Given the description of an element on the screen output the (x, y) to click on. 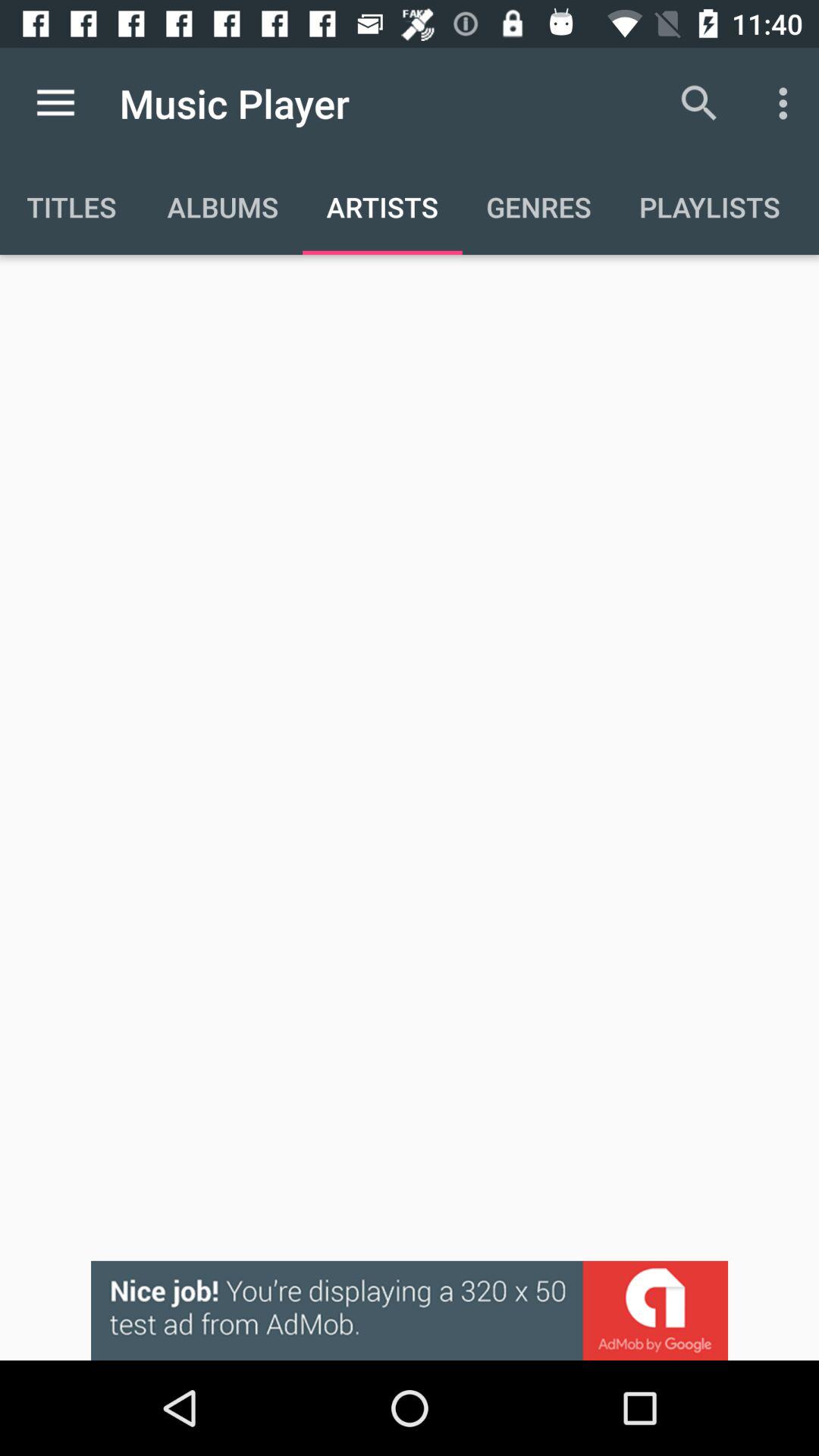
advertisement (409, 1310)
